Given the description of an element on the screen output the (x, y) to click on. 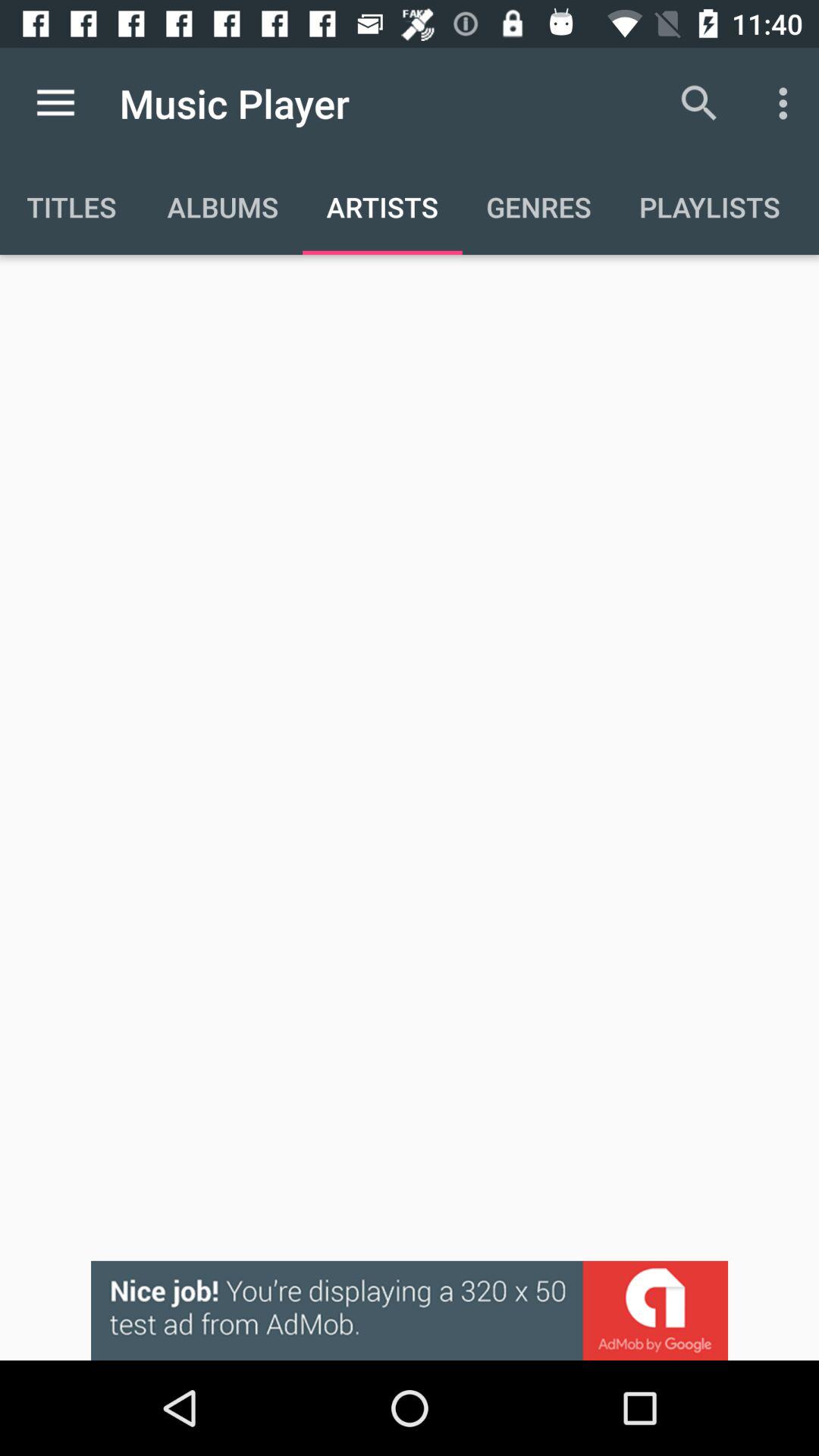
advertisement (409, 1310)
